Given the description of an element on the screen output the (x, y) to click on. 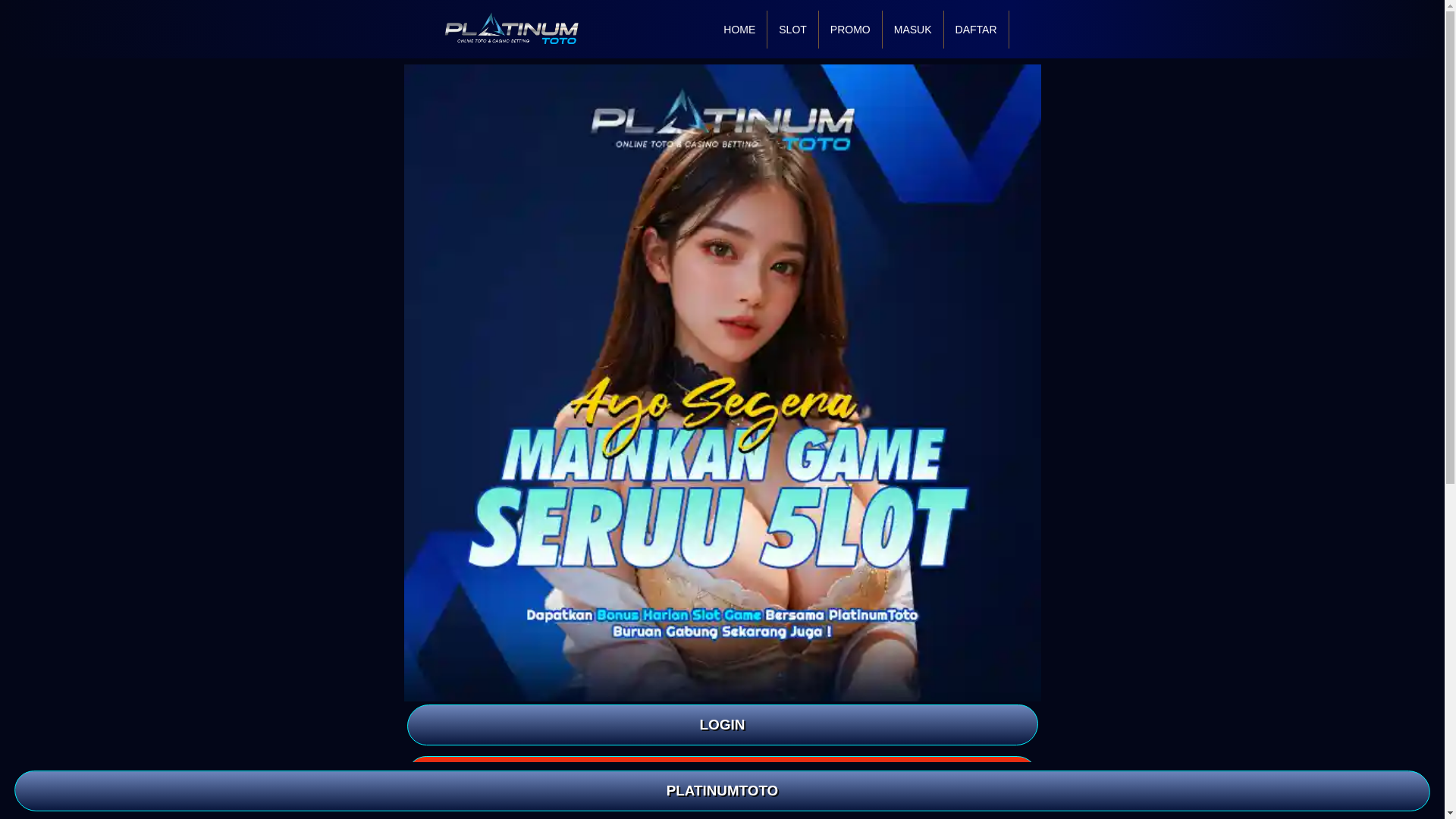
HOME (739, 29)
DAFTAR (976, 29)
DAFTAR (721, 775)
PLATINUMTOTO (723, 791)
MASUK (912, 29)
LOGIN (721, 724)
PROMO (850, 29)
SLOT (792, 29)
